Given the description of an element on the screen output the (x, y) to click on. 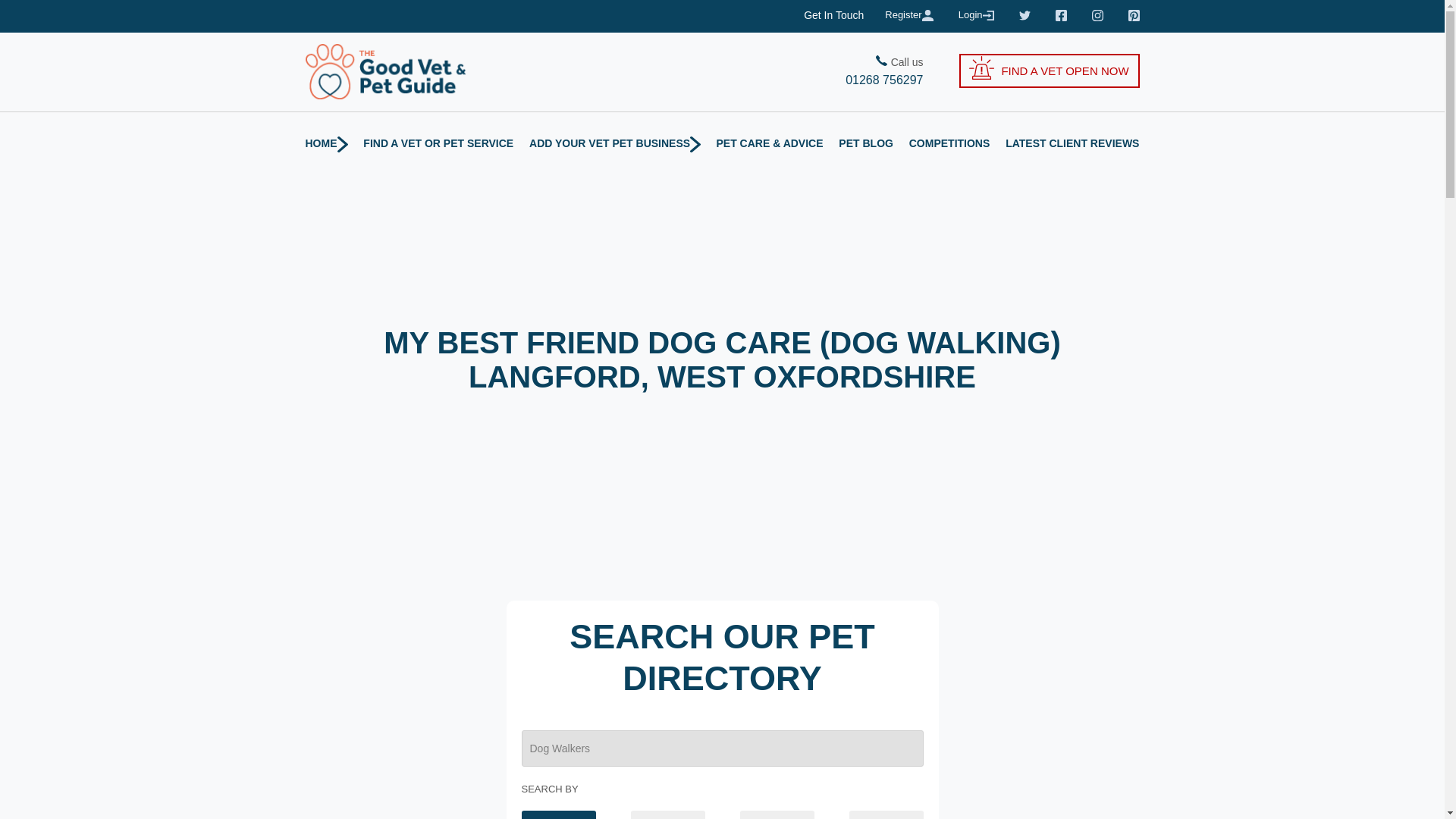
01268 756297 (822, 80)
HOME (325, 143)
Login (977, 15)
Contact the GVPG (833, 15)
Register (910, 15)
ADD YOUR VET PET BUSINESS (614, 143)
FIND A VET OPEN NOW (1048, 70)
FIND A VET OR PET SERVICE (437, 143)
Get In Touch (833, 15)
